Given the description of an element on the screen output the (x, y) to click on. 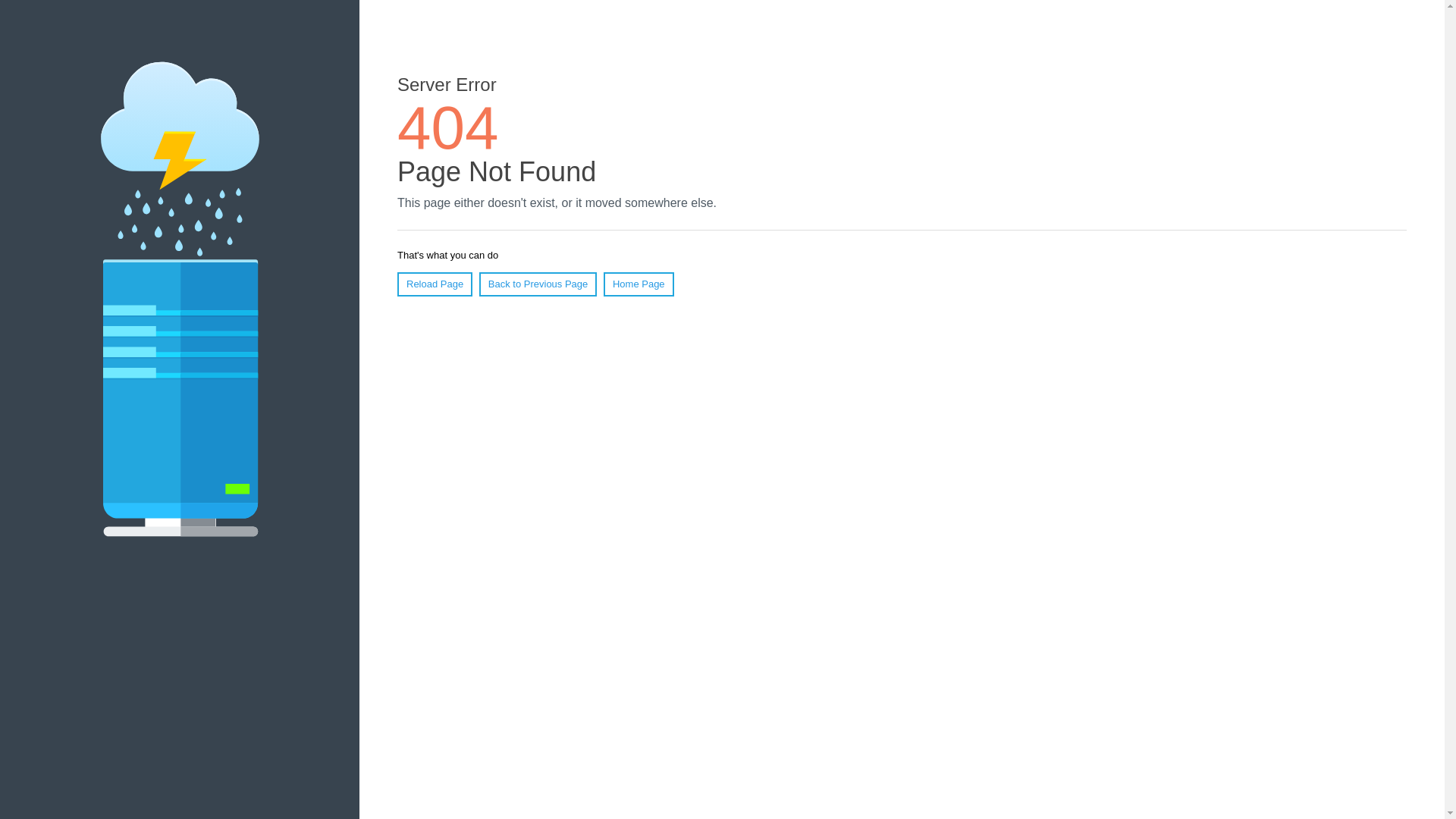
Home Page Element type: text (638, 284)
Reload Page Element type: text (434, 284)
Back to Previous Page Element type: text (538, 284)
